Given the description of an element on the screen output the (x, y) to click on. 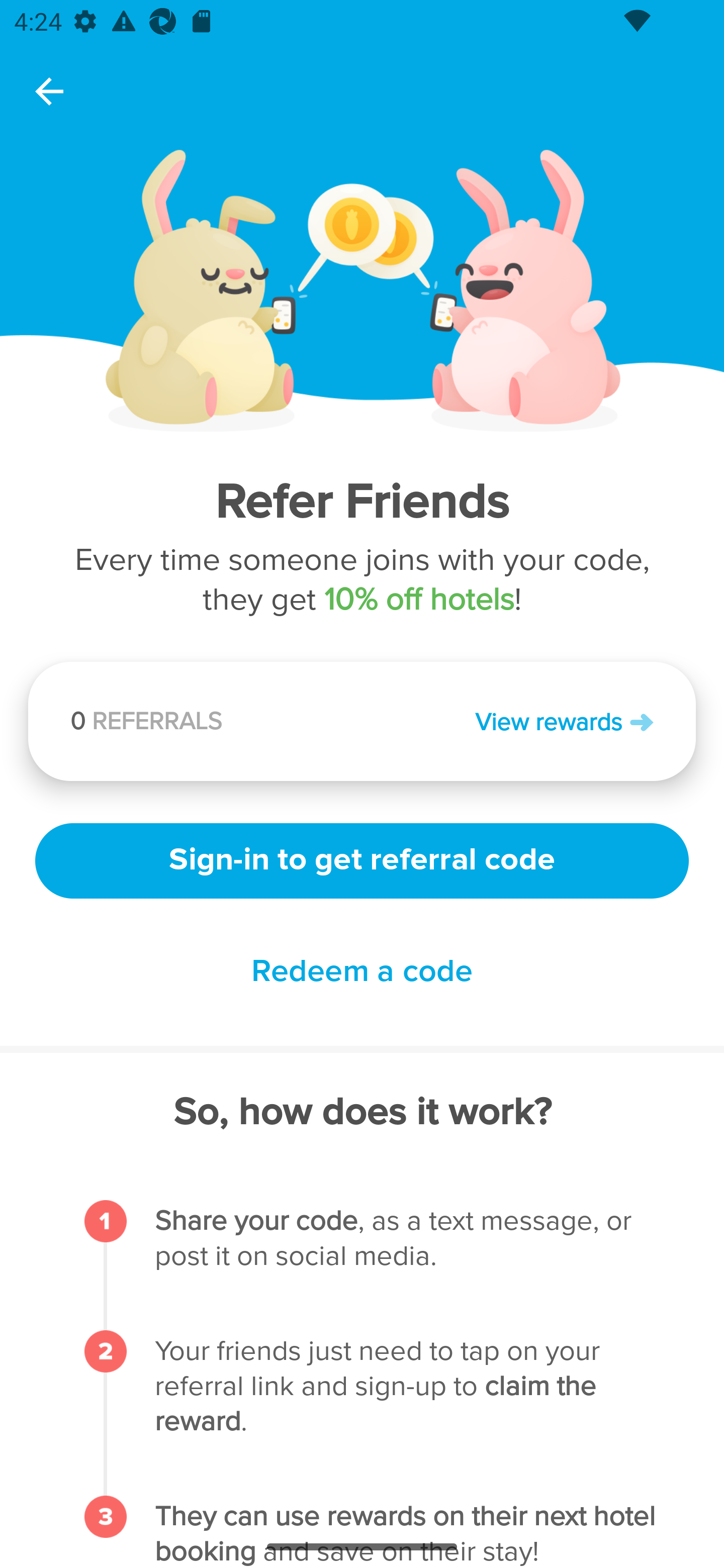
Navigate up (49, 91)
‍Trees planted. Travel more sustainably on Hopper. (259, 726)
‍View rewards ➜ (507, 721)
‍Sign-in to get referral code (361, 858)
‍Redeem a code (361, 971)
